Given the description of an element on the screen output the (x, y) to click on. 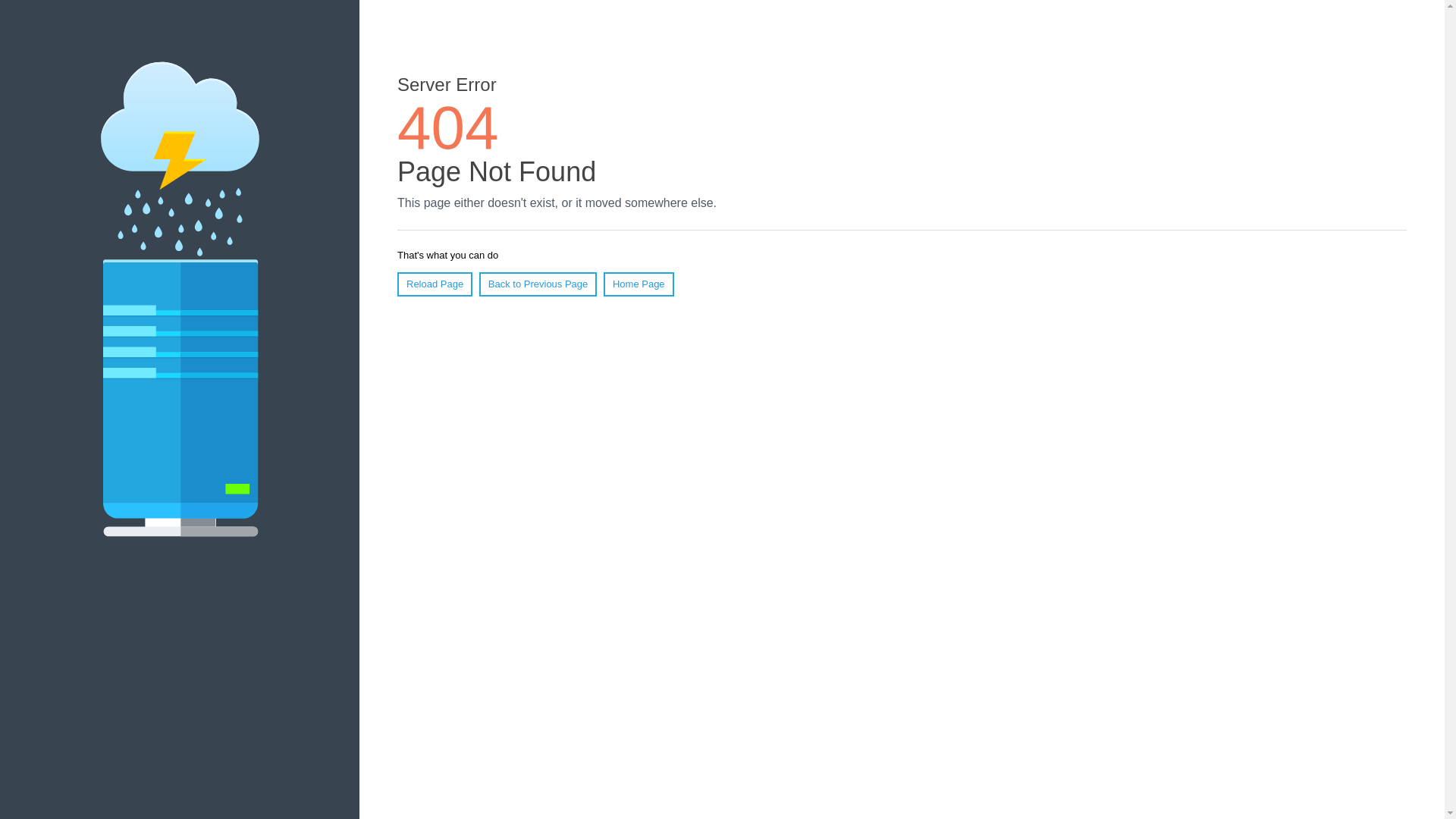
Back to Previous Page Element type: text (538, 284)
Reload Page Element type: text (434, 284)
Home Page Element type: text (638, 284)
